Given the description of an element on the screen output the (x, y) to click on. 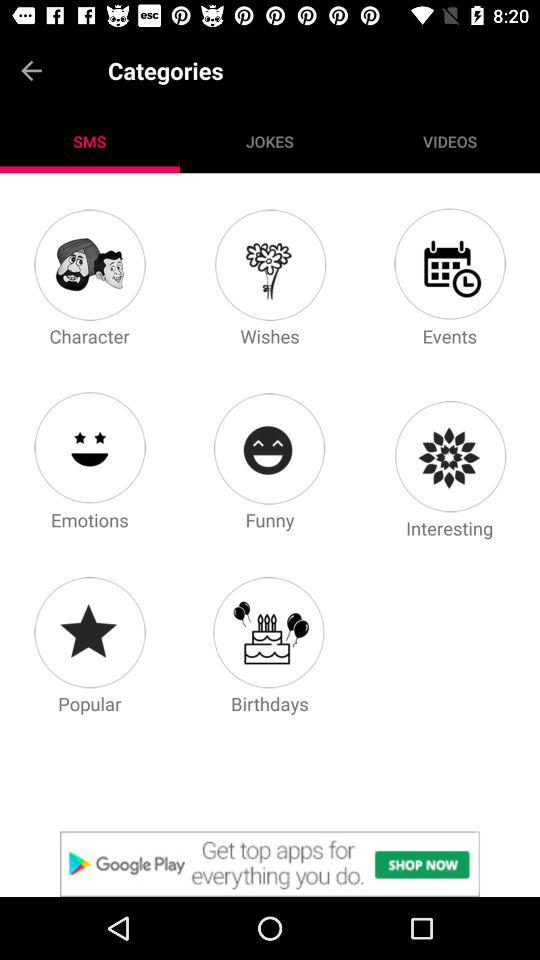
select events (449, 264)
